Given the description of an element on the screen output the (x, y) to click on. 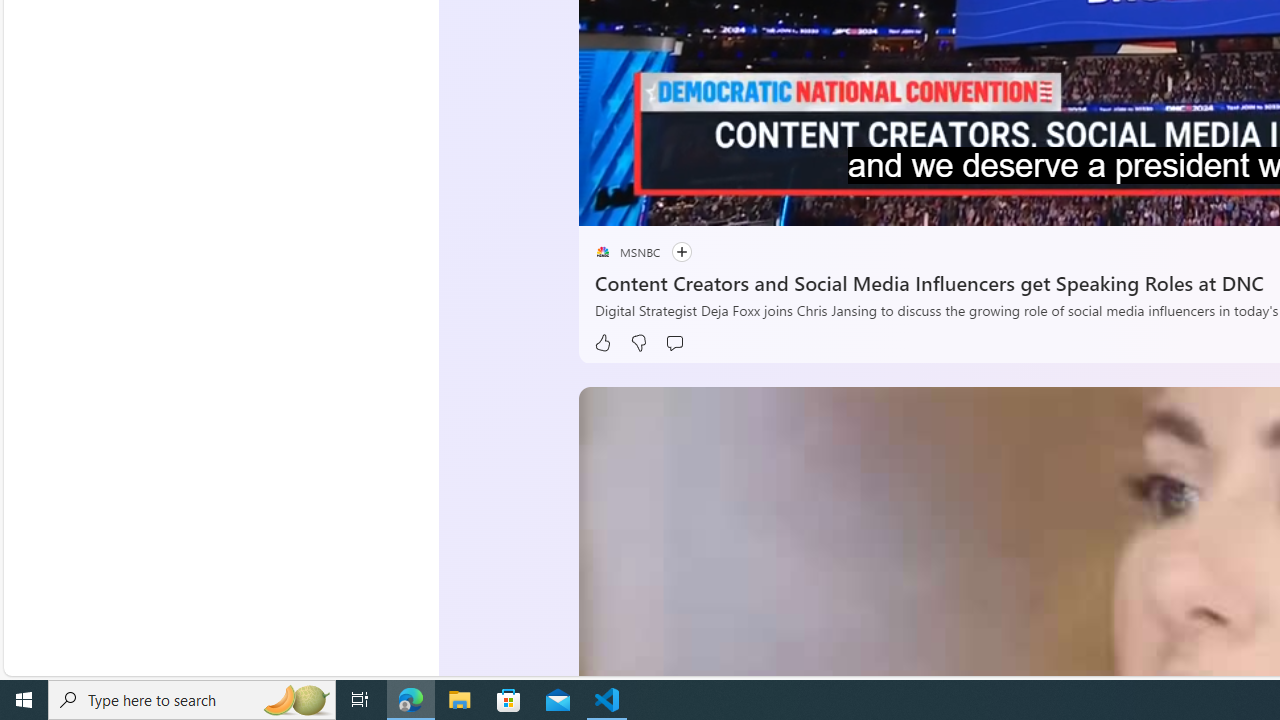
Seek Back (648, 203)
Seek Forward (688, 203)
placeholder MSNBC (626, 252)
placeholder (601, 252)
Pause (607, 203)
